Given the description of an element on the screen output the (x, y) to click on. 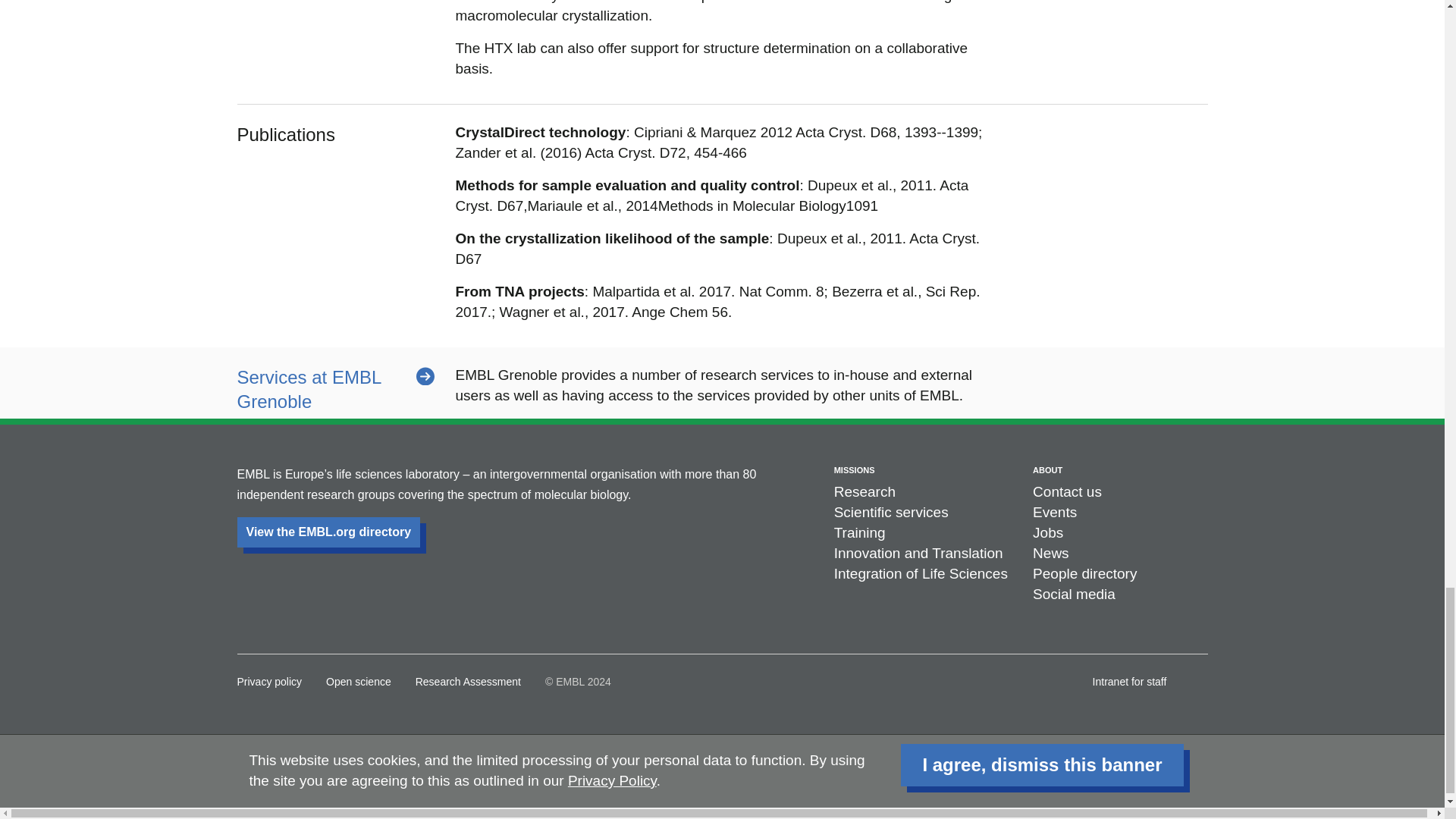
MISSIONS (854, 470)
Jobs (1047, 532)
Research Assessment (467, 676)
View the EMBL.org directory (327, 531)
ABOUT (1047, 470)
Social media (1073, 593)
Intranet for staff (1130, 676)
Innovation and Translation (918, 553)
Integration of Life Sciences (920, 573)
Training (859, 532)
